Given the description of an element on the screen output the (x, y) to click on. 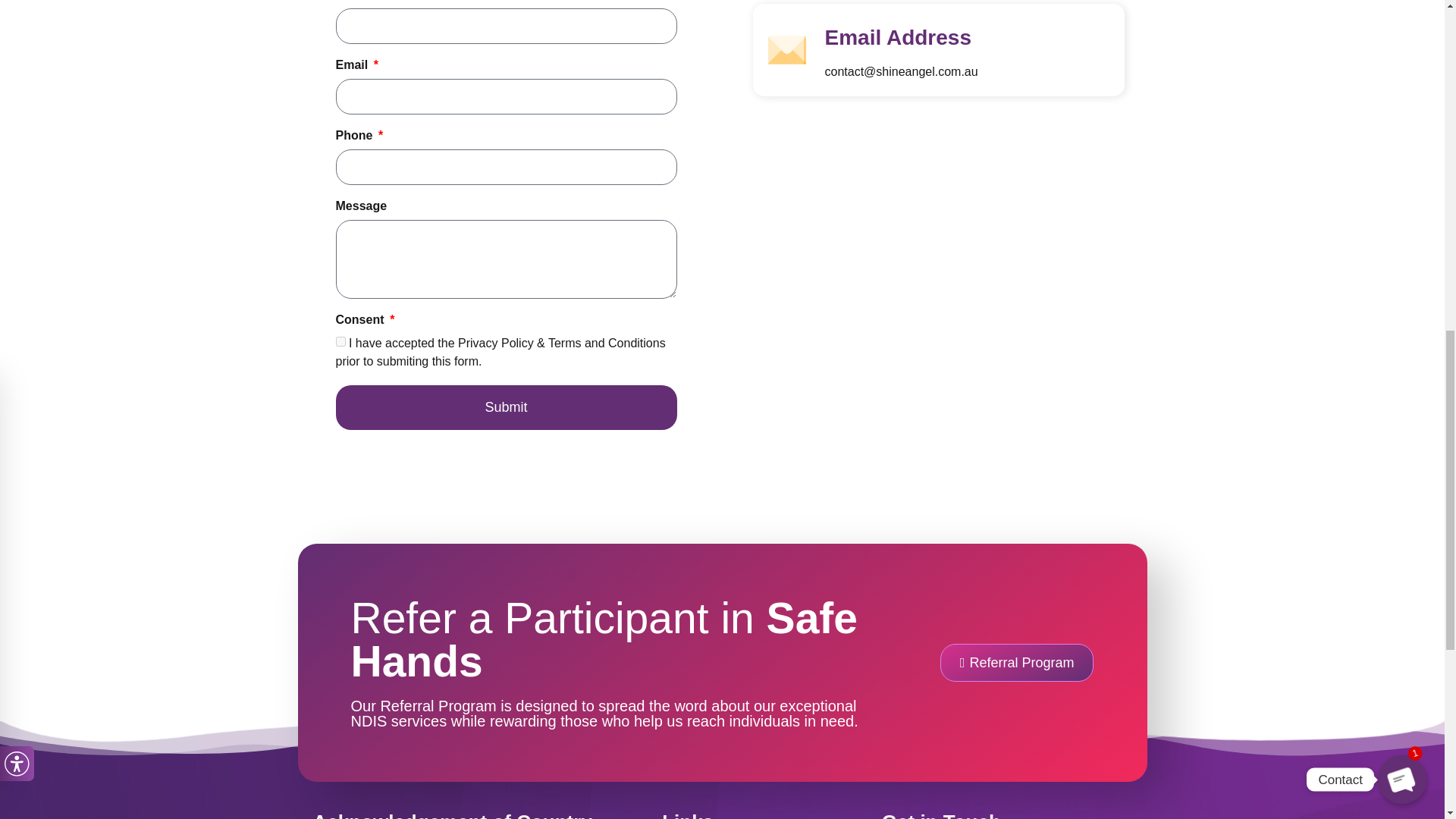
Referral Program (1017, 662)
on (339, 341)
Email Address (898, 37)
Submit (505, 406)
